Given the description of an element on the screen output the (x, y) to click on. 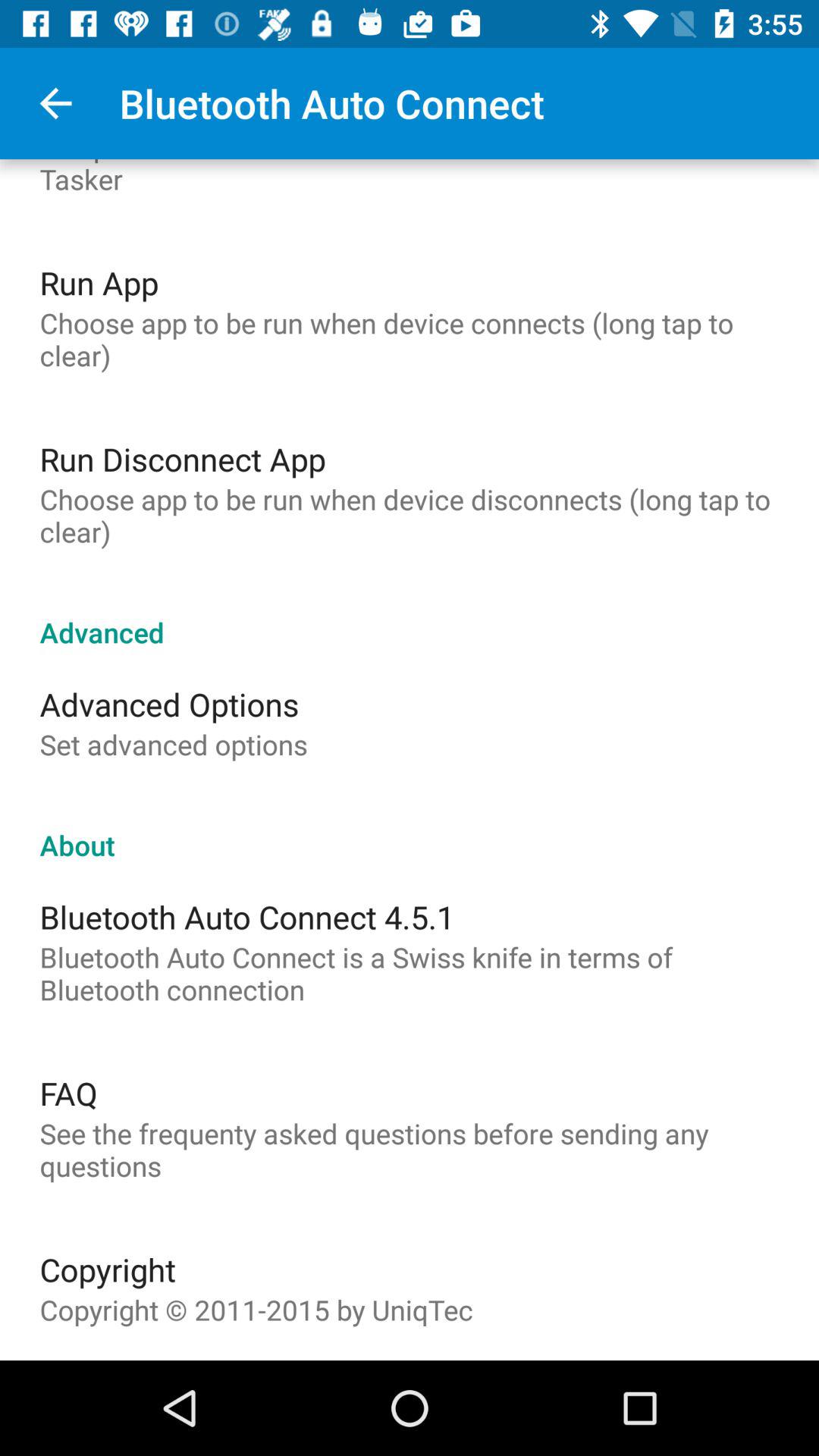
click the item below bluetooth auto connect icon (68, 1092)
